Given the description of an element on the screen output the (x, y) to click on. 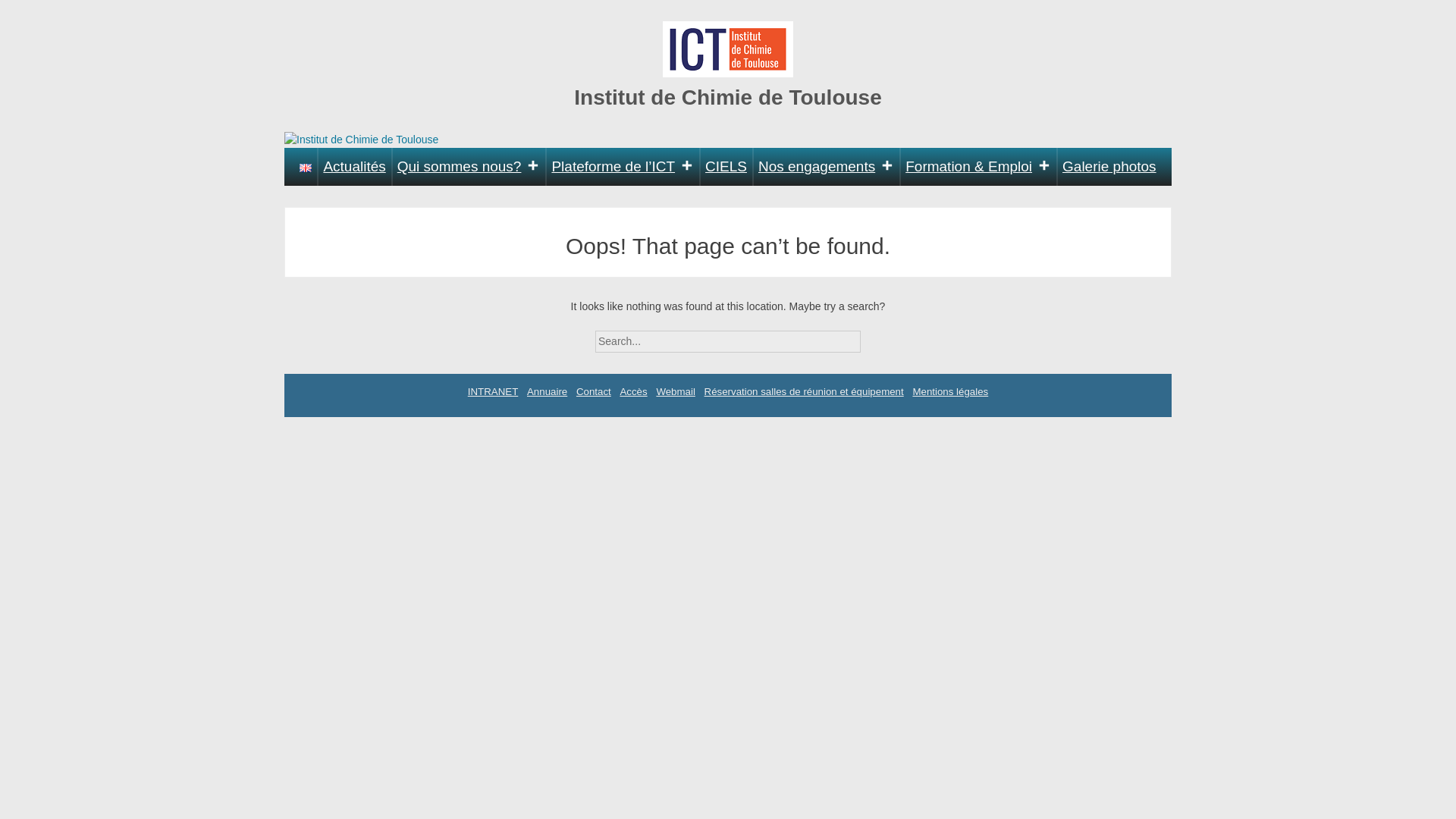
Qui sommes nous? (468, 166)
Search (873, 336)
Search (873, 336)
Institut de Chimie de Toulouse (727, 97)
Nos engagements (825, 166)
CIELS (726, 166)
